Given the description of an element on the screen output the (x, y) to click on. 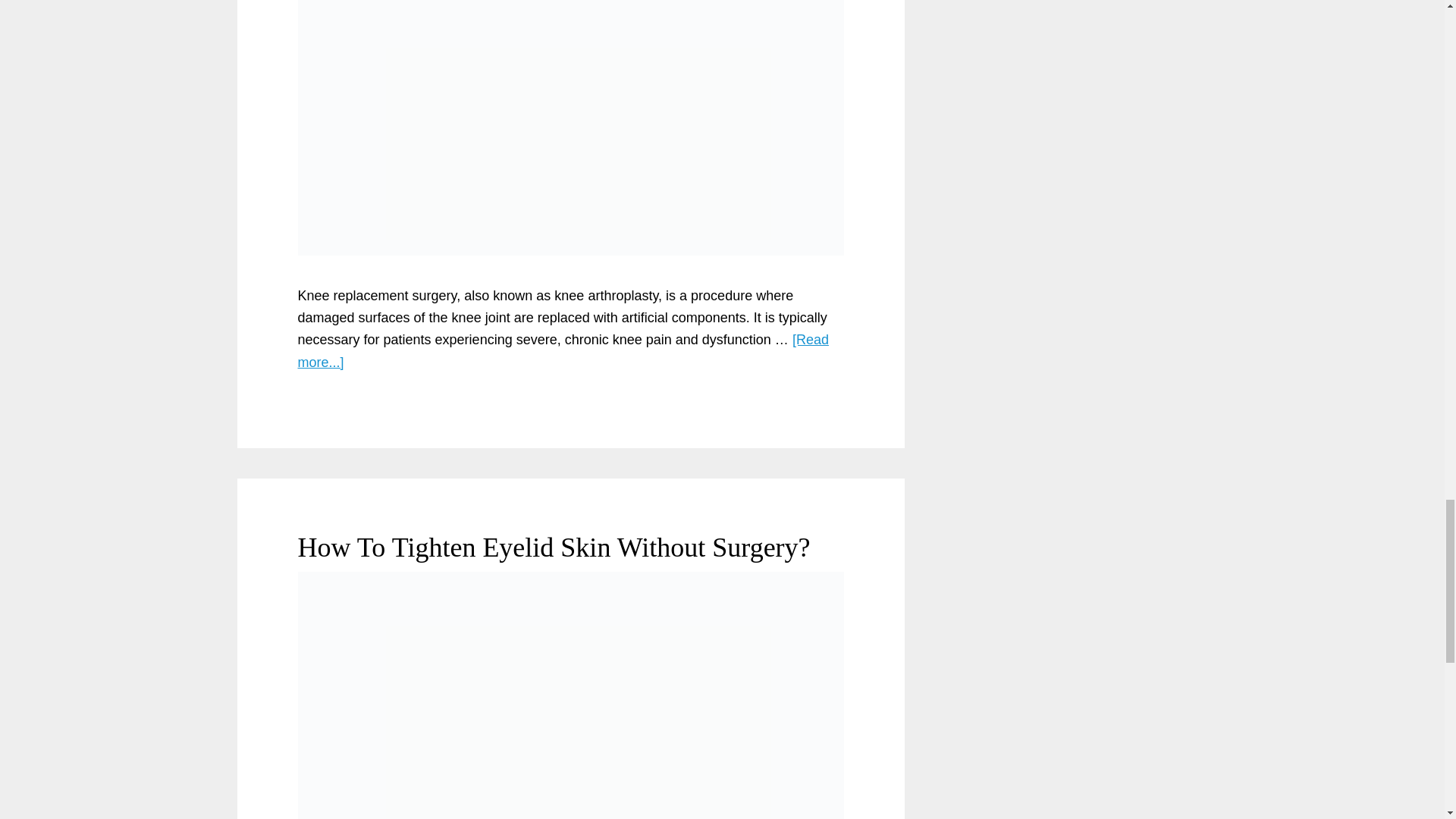
How To Tighten Eyelid Skin Without Surgery? (553, 547)
